Given the description of an element on the screen output the (x, y) to click on. 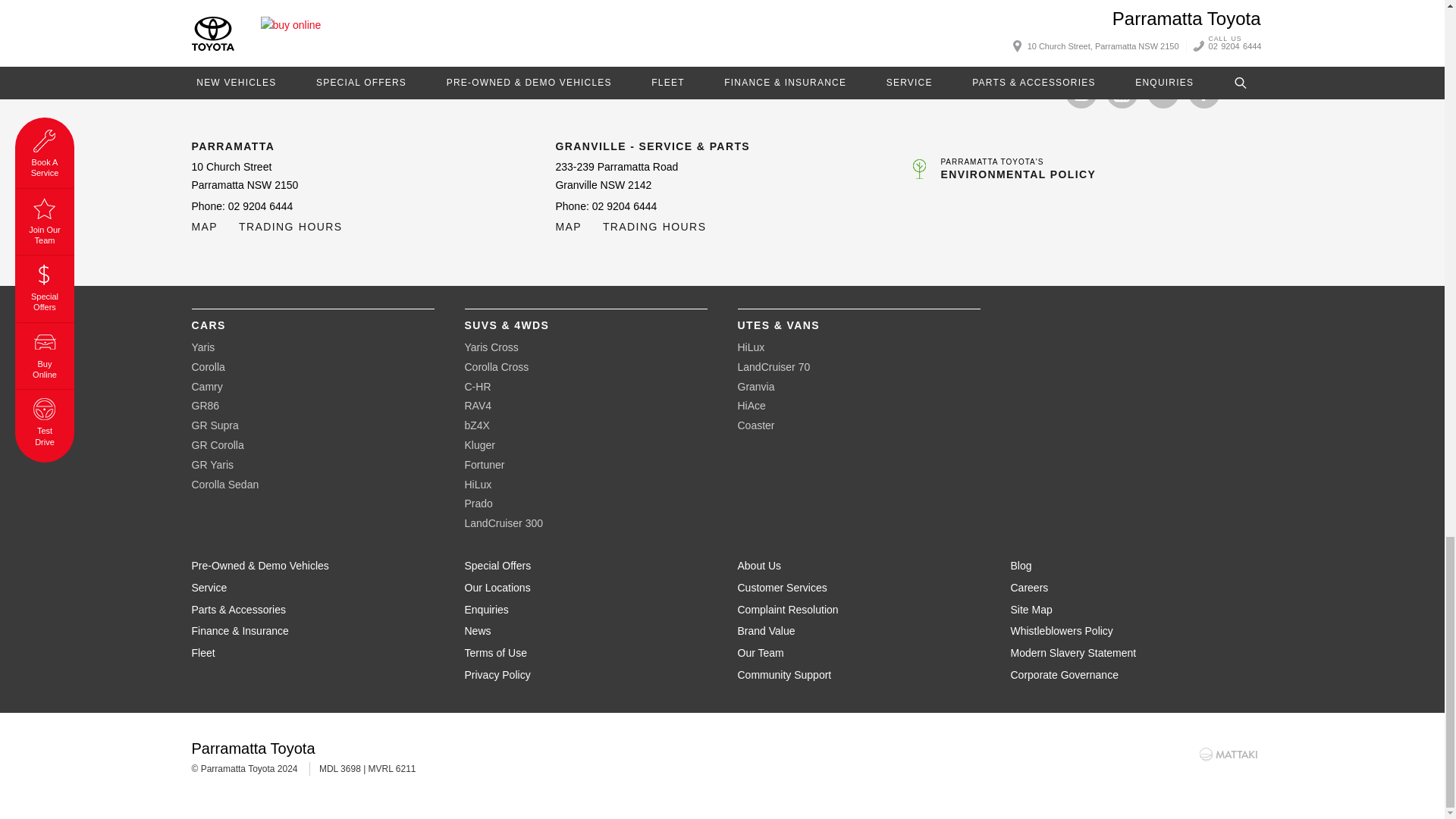
Follow Us on LinkedIn (1162, 92)
Visit our YouTube Channel (1121, 92)
Become a Friend on Facebook (1204, 92)
Follow Us on Instagram (1080, 92)
